Given the description of an element on the screen output the (x, y) to click on. 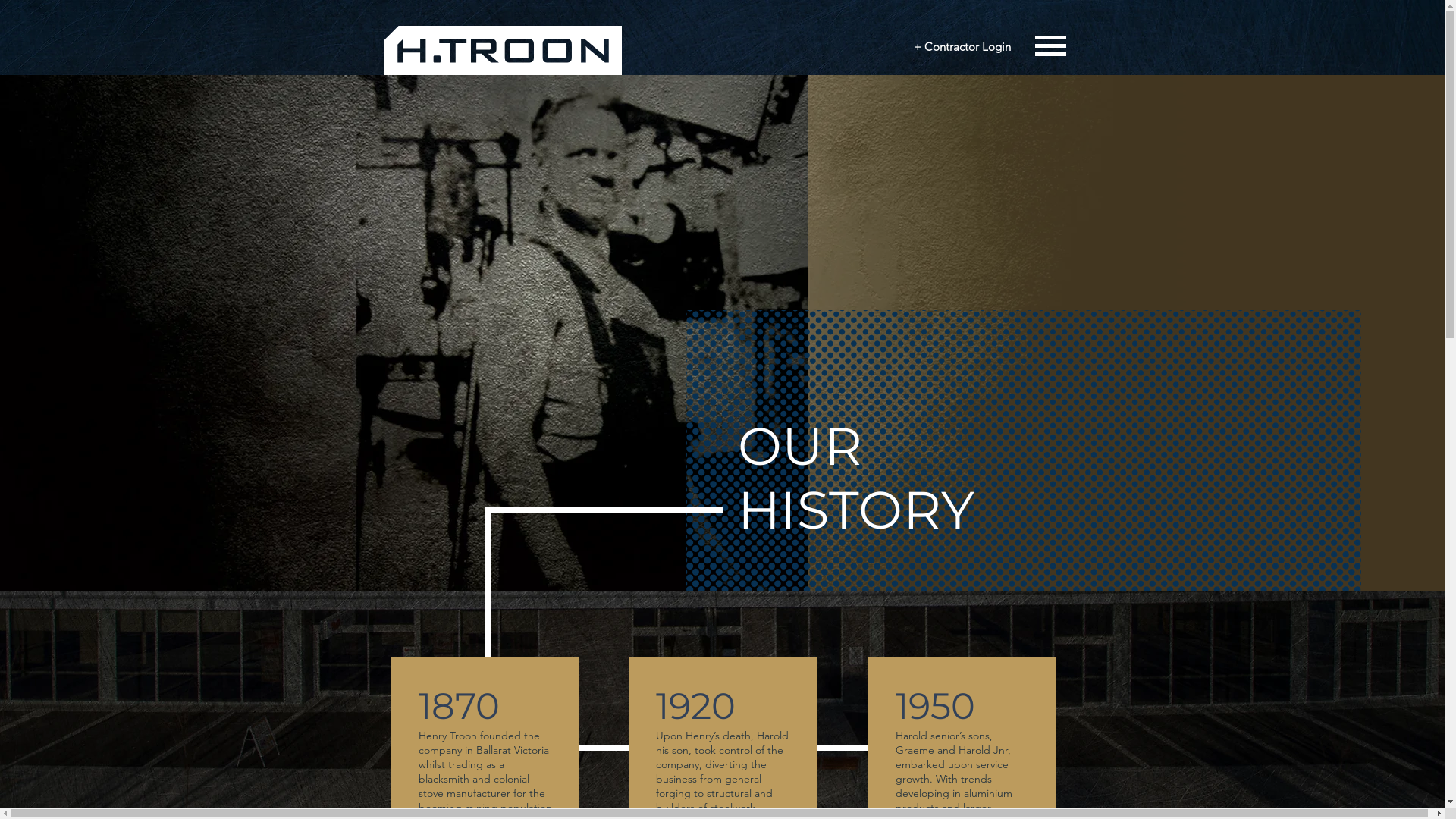
+ Contractor Login Element type: text (962, 46)
dots-texture-01.png Element type: hover (1022, 450)
